Given the description of an element on the screen output the (x, y) to click on. 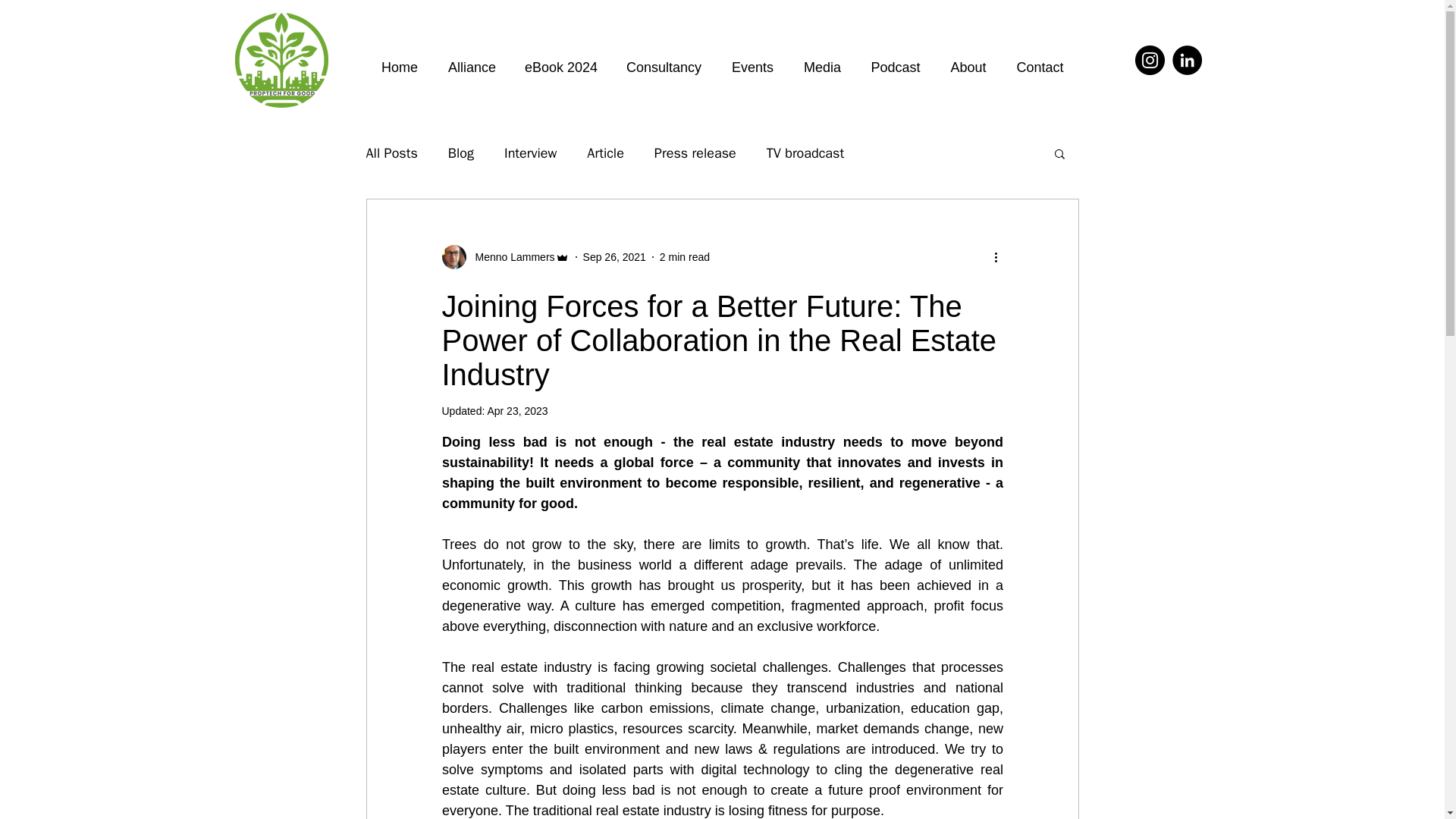
Media (822, 60)
Article (605, 153)
Podcast (895, 60)
Menno Lammers (505, 256)
Interview (529, 153)
Press release (694, 153)
Contact (1039, 60)
TV broadcast (805, 153)
Apr 23, 2023 (516, 410)
All Posts (390, 153)
Sep 26, 2021 (614, 256)
eBook 2024 (561, 60)
2 min read (684, 256)
Alliance (472, 60)
Home (398, 60)
